Given the description of an element on the screen output the (x, y) to click on. 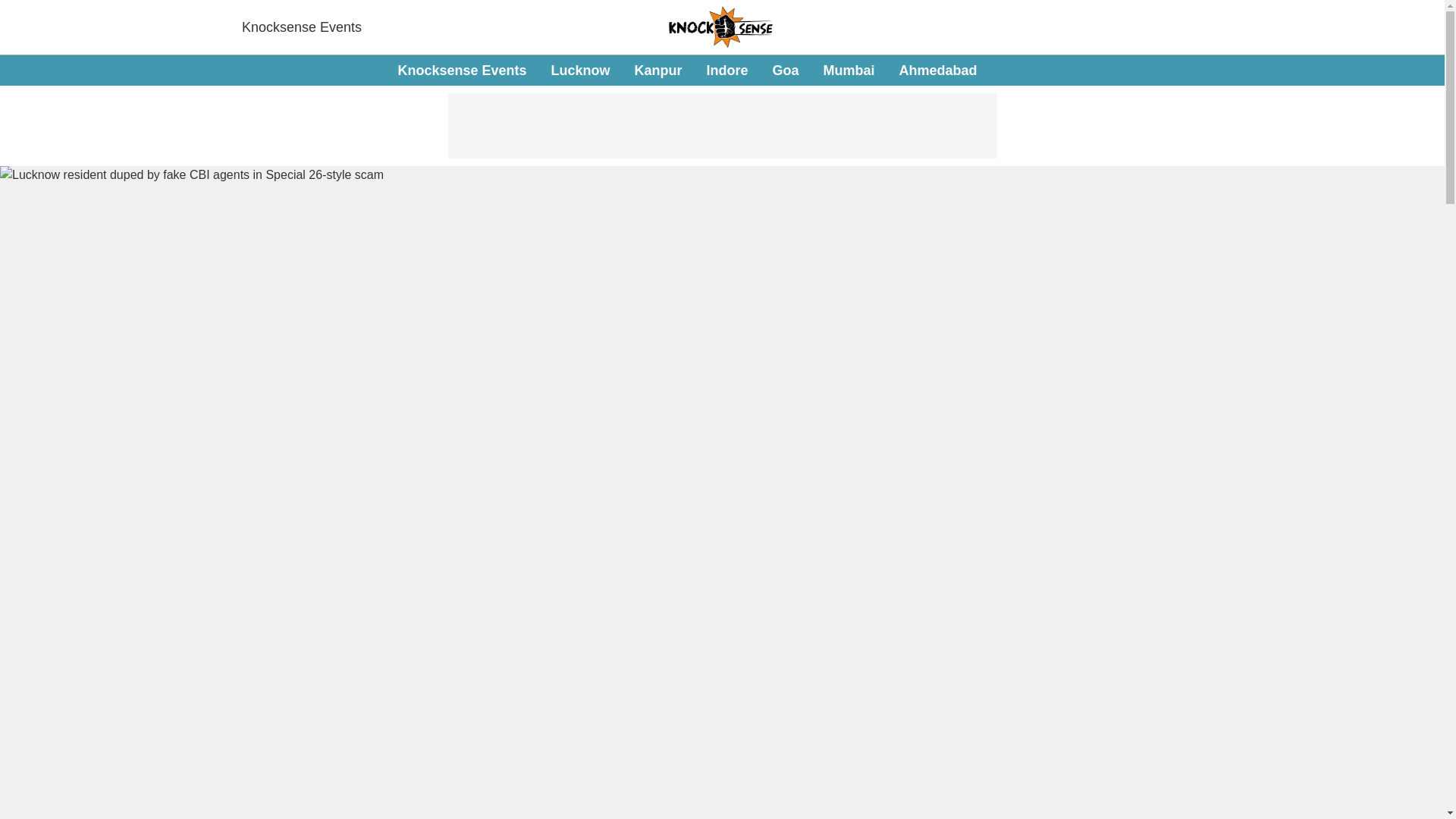
Goa (786, 70)
Mumbai (849, 70)
Knocksense Events (461, 70)
Knocksense Events (301, 27)
Dark Mode (1415, 70)
Lucknow (580, 70)
Indore (686, 70)
Kanpur (727, 70)
Ahmedabad (657, 70)
